Given the description of an element on the screen output the (x, y) to click on. 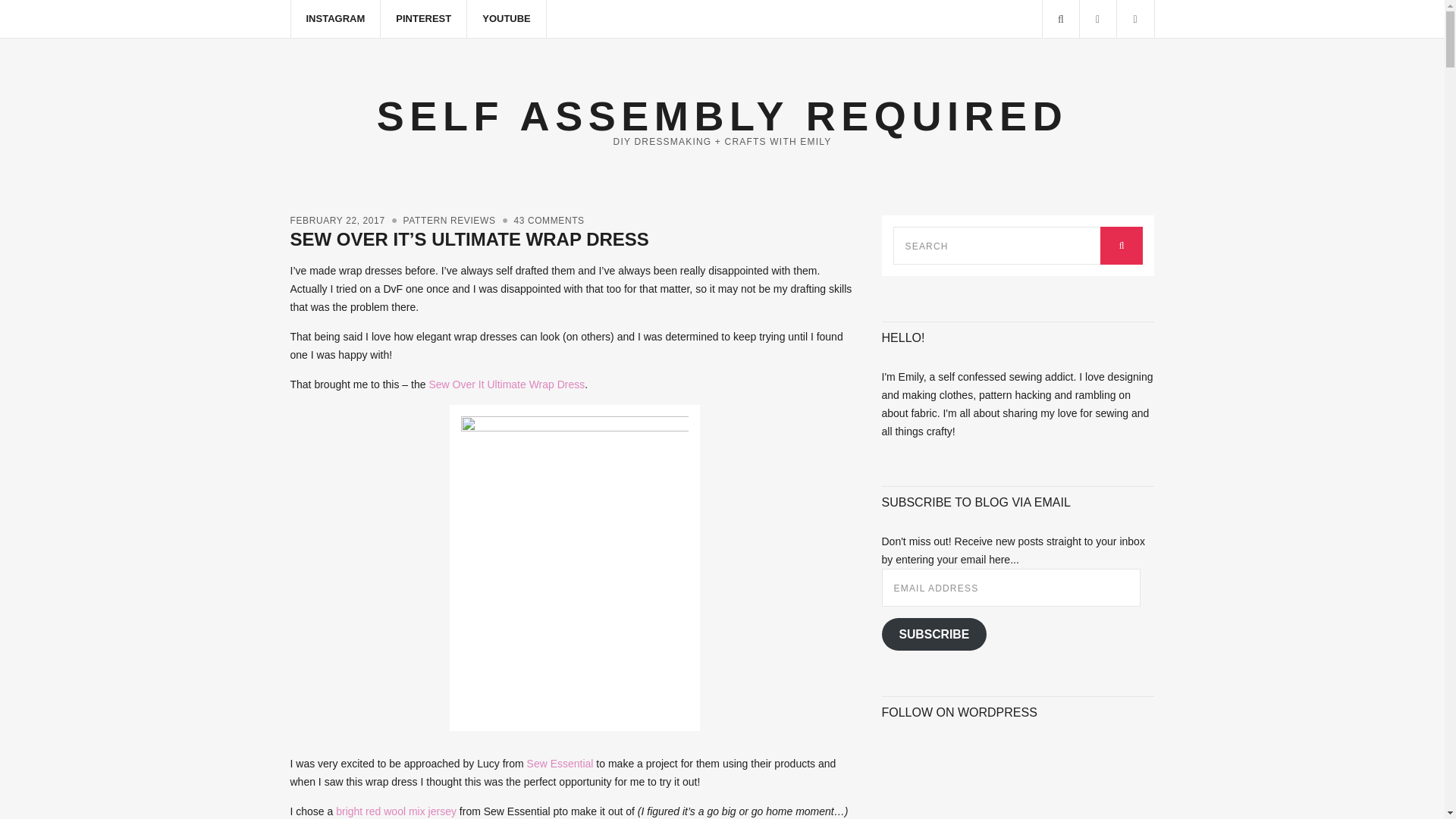
YOUTUBE (507, 18)
INSTAGRAM (336, 18)
PATTERN REVIEWS (449, 220)
PINTEREST (423, 18)
43 COMMENTS (548, 220)
Follow Button (1017, 749)
Sew Essential (560, 763)
SELF ASSEMBLY REQUIRED (722, 115)
bright red wool mix jersey (396, 811)
Sew Over It Ultimate Wrap Dress (506, 384)
